Given the description of an element on the screen output the (x, y) to click on. 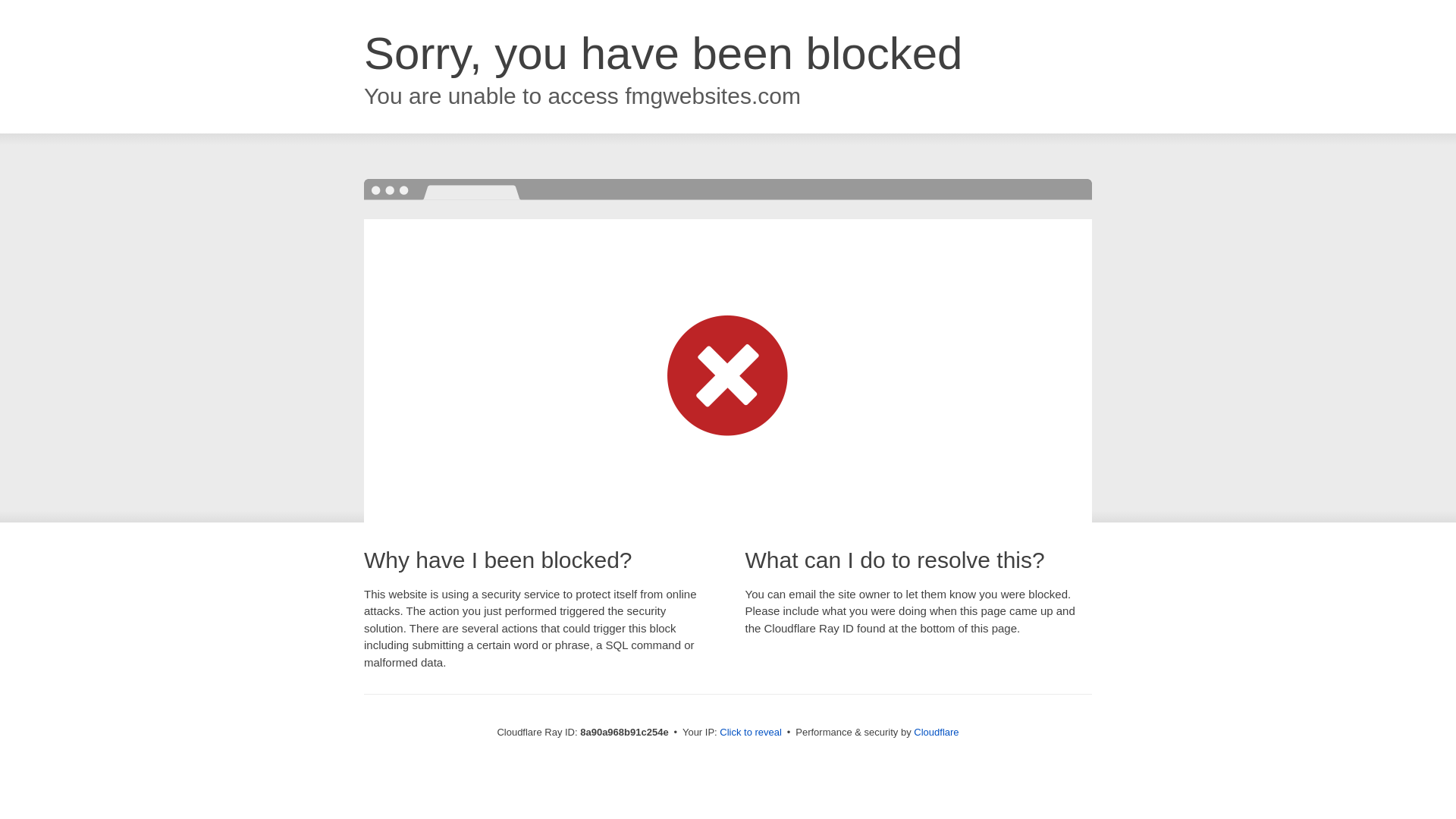
Cloudflare (936, 731)
Click to reveal (750, 732)
